Given the description of an element on the screen output the (x, y) to click on. 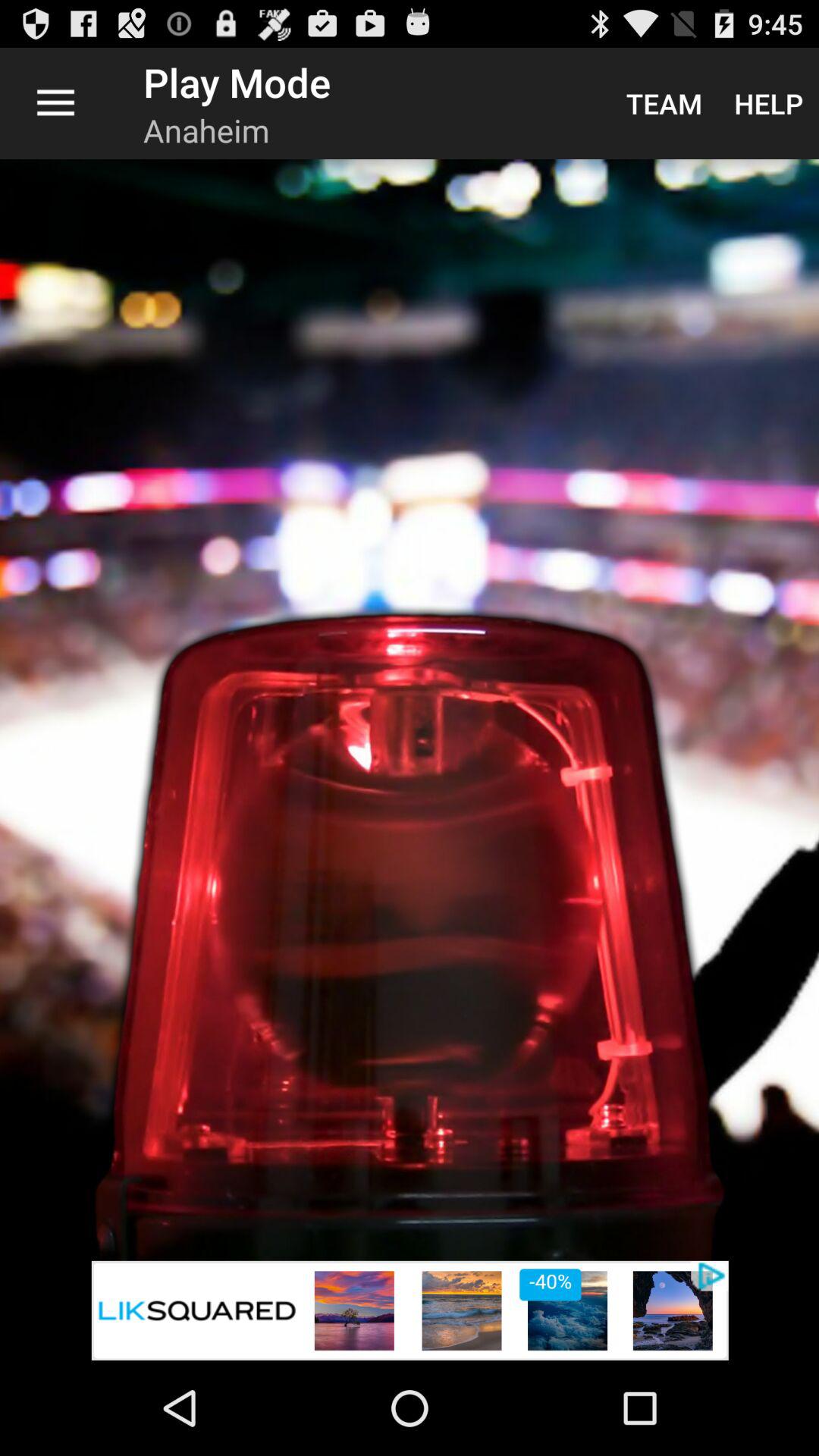
banner advertisement (409, 1310)
